Given the description of an element on the screen output the (x, y) to click on. 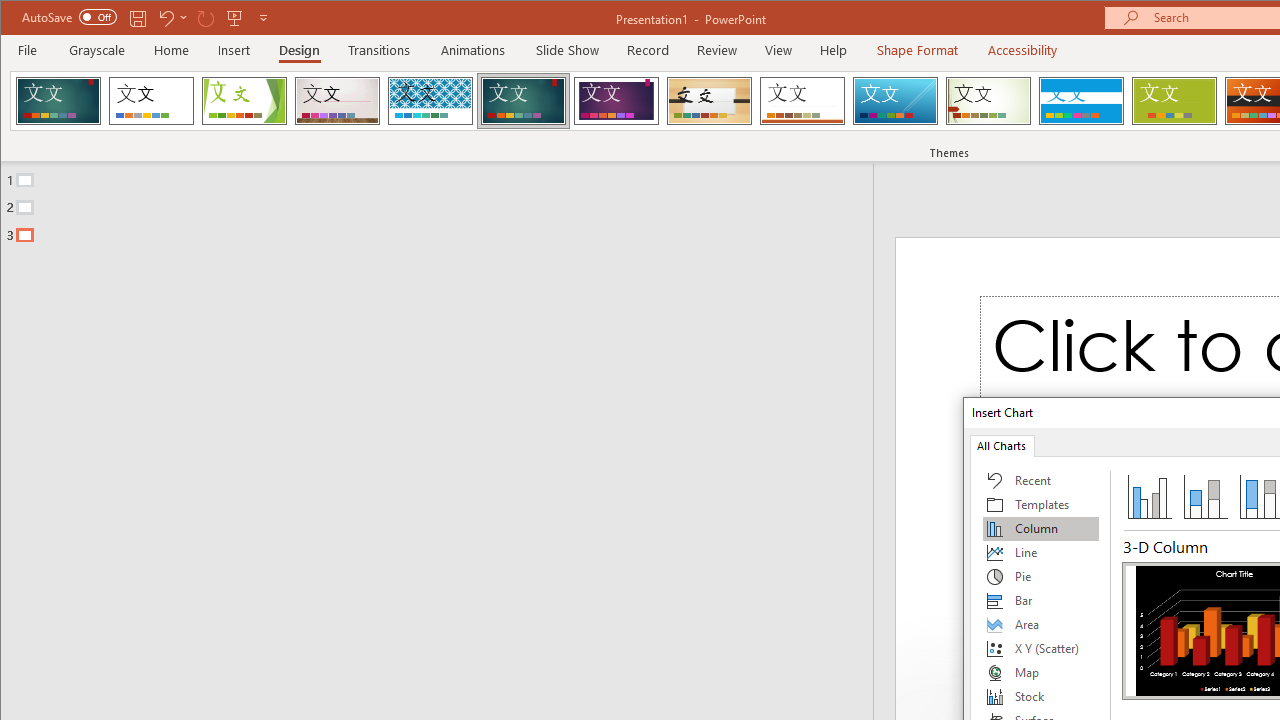
Ion (523, 100)
Facet (244, 100)
Clustered Column (1149, 496)
Recent (1041, 480)
Dividend (57, 100)
Stock (1041, 696)
Templates (1041, 504)
